Given the description of an element on the screen output the (x, y) to click on. 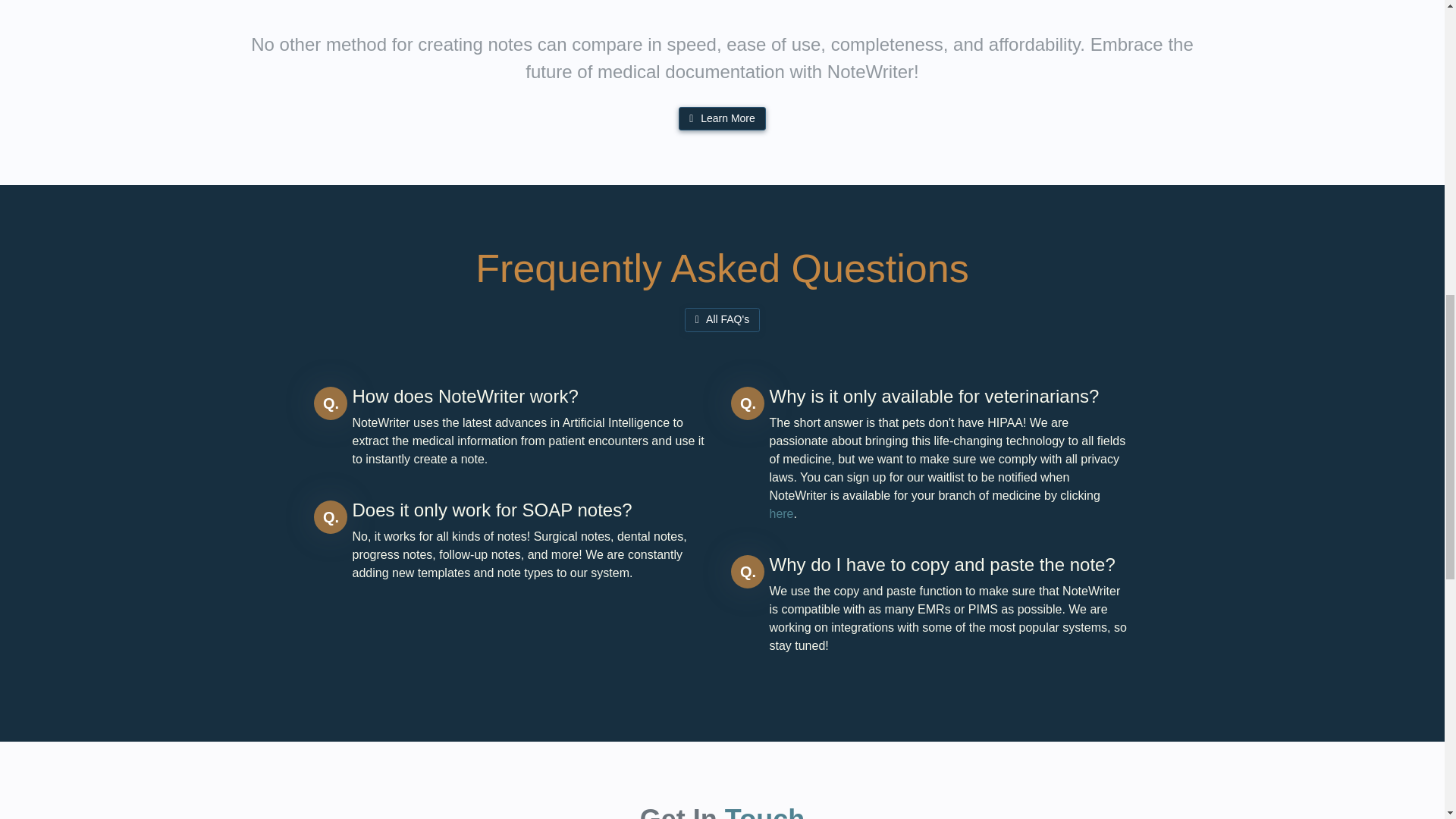
Learn More (721, 118)
here (780, 513)
All FAQ's (722, 319)
